Given the description of an element on the screen output the (x, y) to click on. 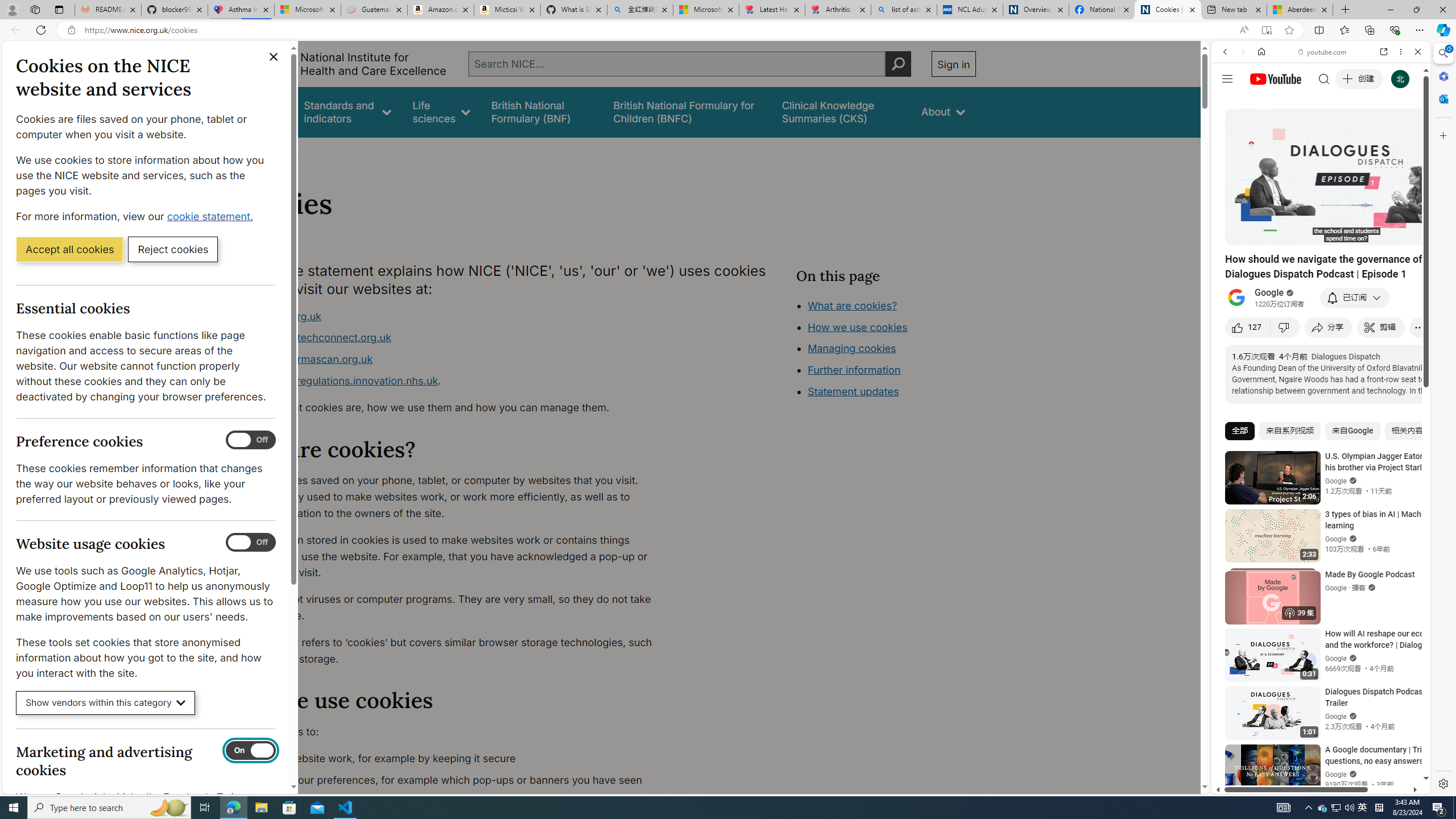
Class: in-page-nav__list (884, 349)
Dialogues Dispatch (1345, 356)
British National Formulary for Children (BNFC) (686, 111)
